Given the description of an element on the screen output the (x, y) to click on. 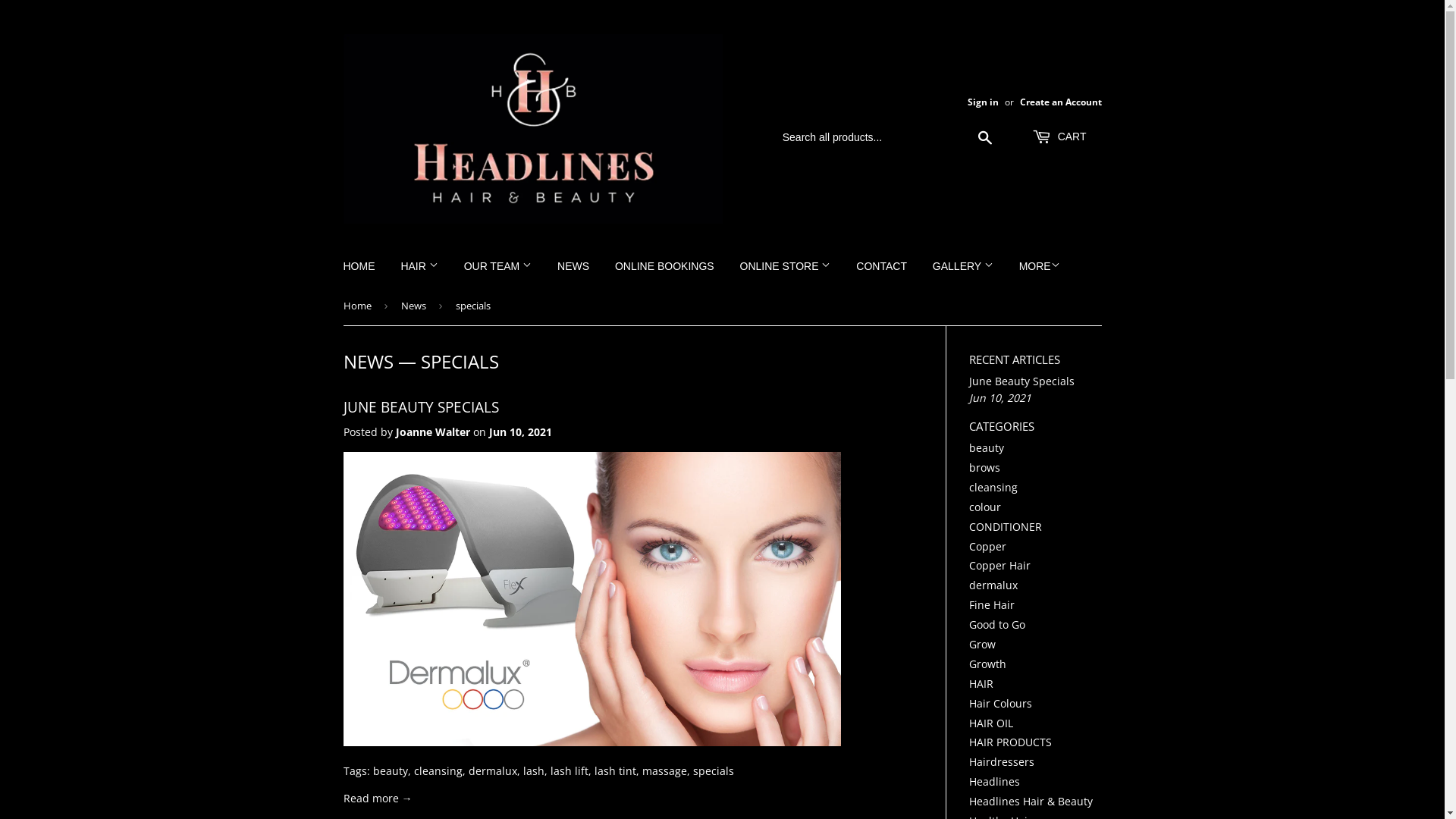
Headlines Element type: text (994, 781)
beauty Element type: text (390, 770)
Hair Colours Element type: text (1000, 703)
NEWS Element type: text (367, 360)
CONDITIONER Element type: text (1005, 526)
dermalux Element type: text (993, 584)
HAIR Element type: text (418, 265)
MORE Element type: text (1039, 265)
lash lift Element type: text (569, 770)
cleansing Element type: text (438, 770)
specials Element type: text (713, 770)
Copper Hair Element type: text (999, 565)
Growth Element type: text (987, 663)
massage Element type: text (663, 770)
Headlines Hair & Beauty Element type: text (1030, 800)
Hairdressers Element type: text (1001, 761)
Grow Element type: text (982, 644)
CART Element type: text (1058, 136)
ONLINE STORE Element type: text (785, 265)
colour Element type: text (985, 506)
Home Element type: text (359, 305)
HAIR PRODUCTS Element type: text (1010, 741)
HAIR OIL Element type: text (991, 722)
GALLERY Element type: text (962, 265)
News Element type: text (415, 305)
beauty Element type: text (986, 447)
cleansing Element type: text (993, 487)
Search Element type: text (985, 137)
NEWS Element type: text (573, 265)
OUR TEAM Element type: text (497, 265)
brows Element type: text (984, 467)
CONTACT Element type: text (881, 265)
lash tint Element type: text (615, 770)
Good to Go Element type: text (997, 624)
Copper Element type: text (987, 546)
June Beauty Specials Element type: text (1021, 380)
HOME Element type: text (359, 265)
Sign in Element type: text (982, 101)
dermalux Element type: text (492, 770)
Fine Hair Element type: text (991, 604)
Create an Account Element type: text (1060, 101)
ONLINE BOOKINGS Element type: text (664, 265)
JUNE BEAUTY SPECIALS Element type: text (420, 406)
HAIR Element type: text (981, 683)
lash Element type: text (533, 770)
